Given the description of an element on the screen output the (x, y) to click on. 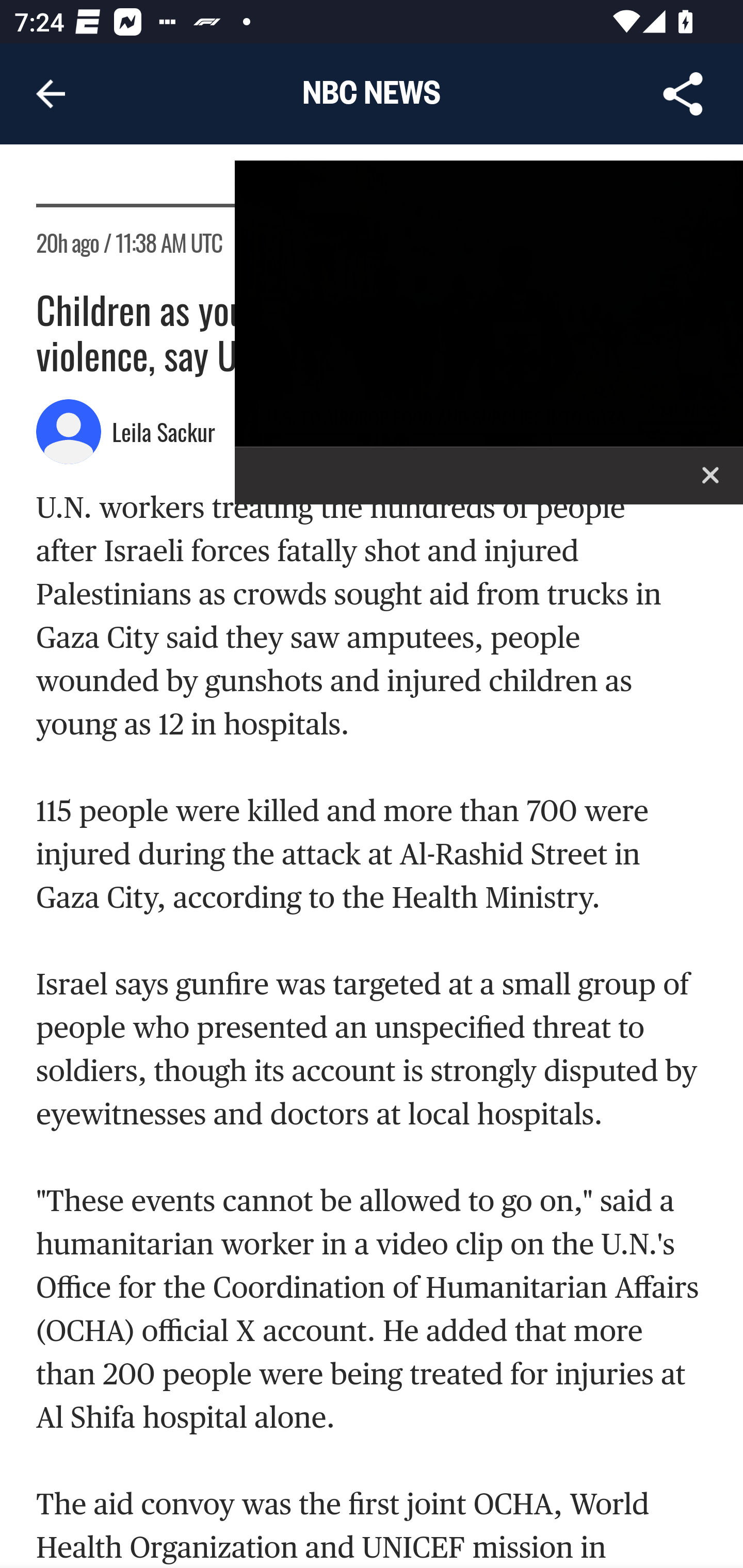
Navigate up (50, 93)
Share Article, button (683, 94)
